Given the description of an element on the screen output the (x, y) to click on. 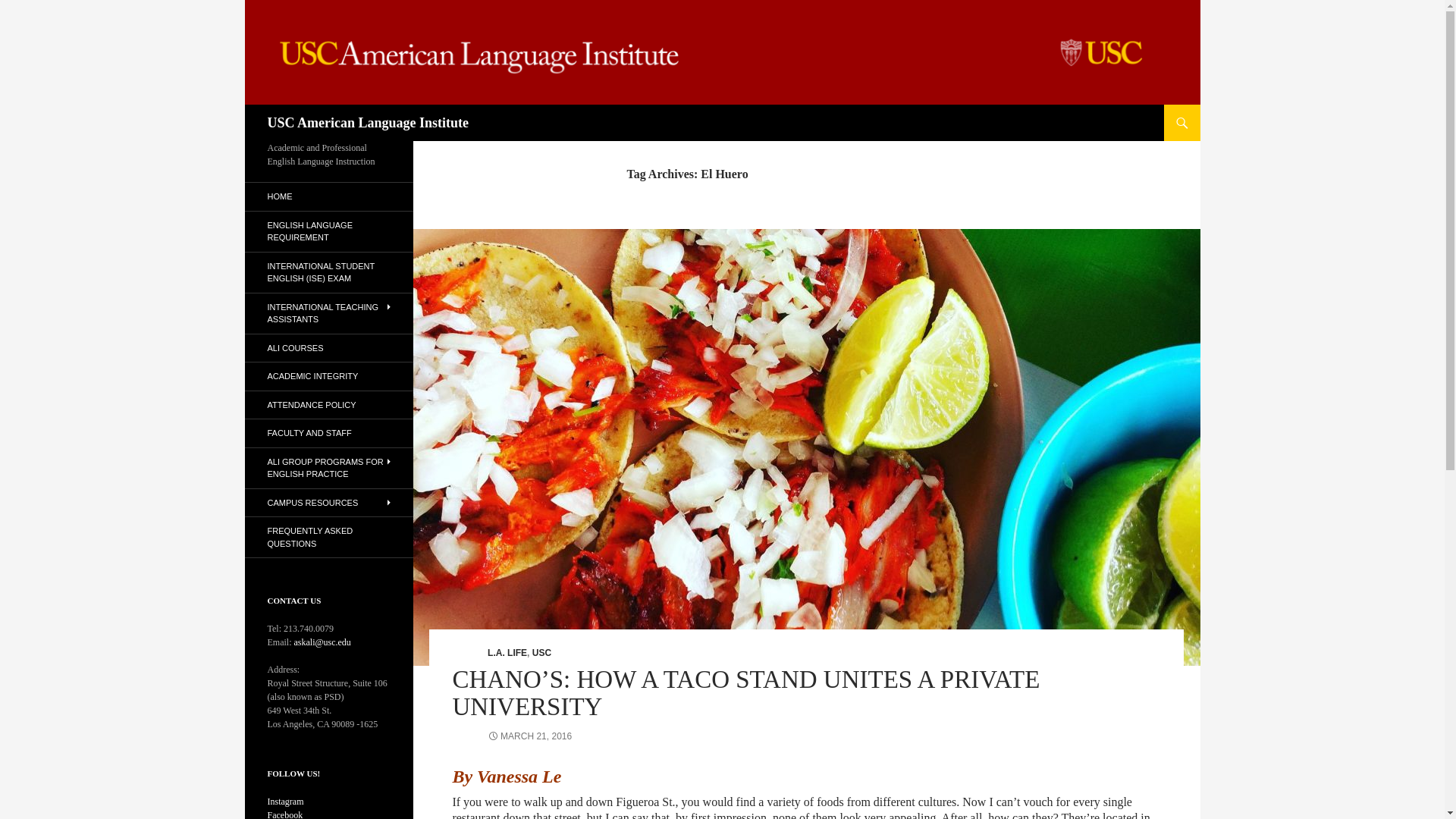
USC (541, 652)
ALI COURSES (328, 348)
ATTENDANCE POLICY (328, 405)
L.A. LIFE (507, 652)
FACULTY AND STAFF (328, 433)
INTERNATIONAL TEACHING ASSISTANTS (328, 313)
ENGLISH LANGUAGE REQUIREMENT (328, 231)
MARCH 21, 2016 (529, 736)
ACADEMIC INTEGRITY (328, 376)
ALI GROUP PROGRAMS FOR ENGLISH PRACTICE (328, 467)
HOME (328, 196)
USC American Language Institute (367, 122)
